Given the description of an element on the screen output the (x, y) to click on. 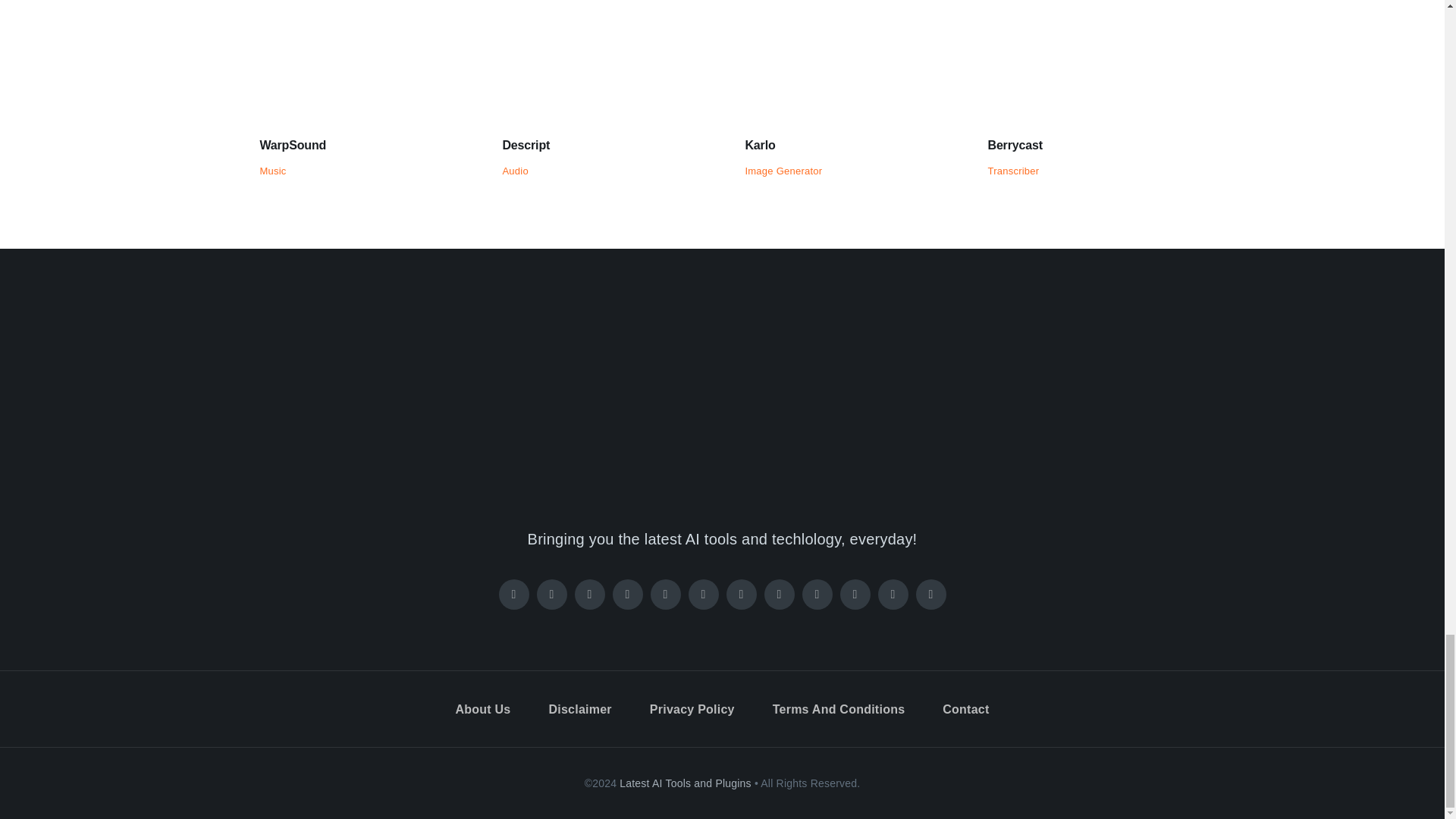
Tiktok (703, 594)
Tumblr (855, 594)
Twitter (552, 594)
Instagram (590, 594)
YouTube (741, 594)
Pinterest (627, 594)
LinkedIn (779, 594)
Twitch (665, 594)
Dribbble (817, 594)
Facebook (514, 594)
